Given the description of an element on the screen output the (x, y) to click on. 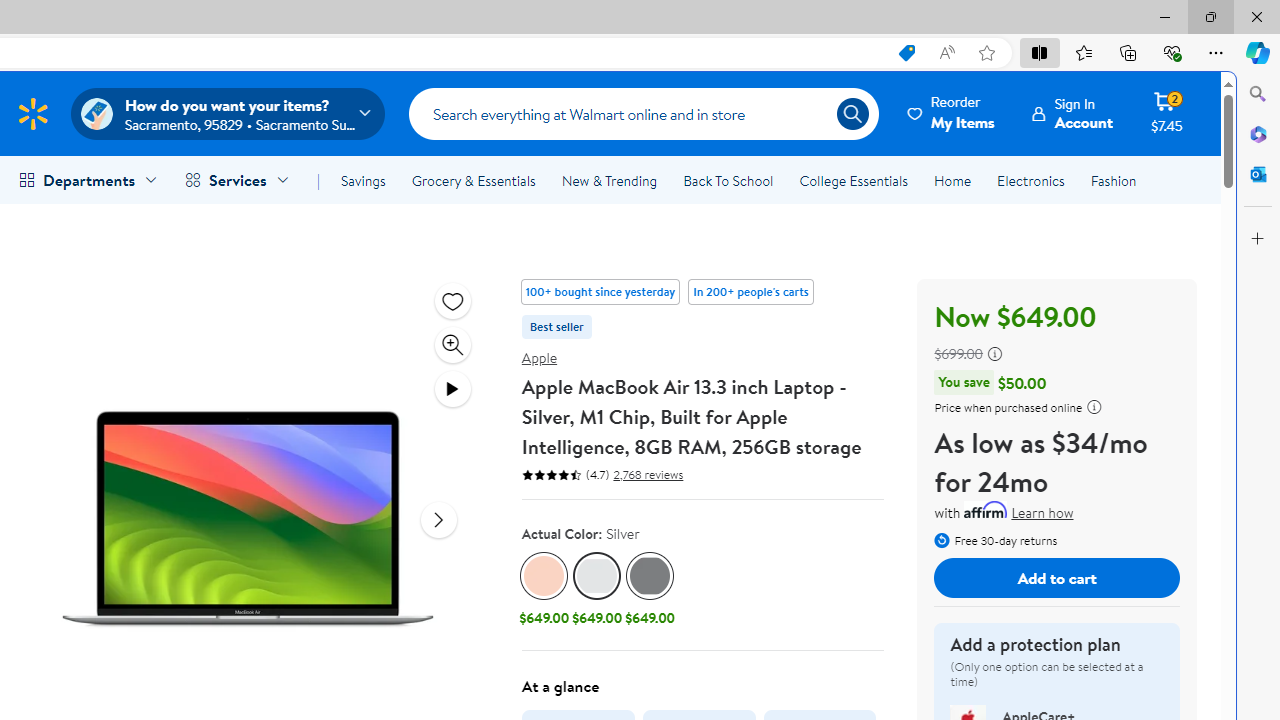
Fashion (1113, 180)
Close Search pane (1258, 94)
Gold Gold, $649.00 (543, 591)
New & Trending (608, 180)
This site has coupons! Shopping in Microsoft Edge, 7 (906, 53)
College Essentials (852, 180)
